Given the description of an element on the screen output the (x, y) to click on. 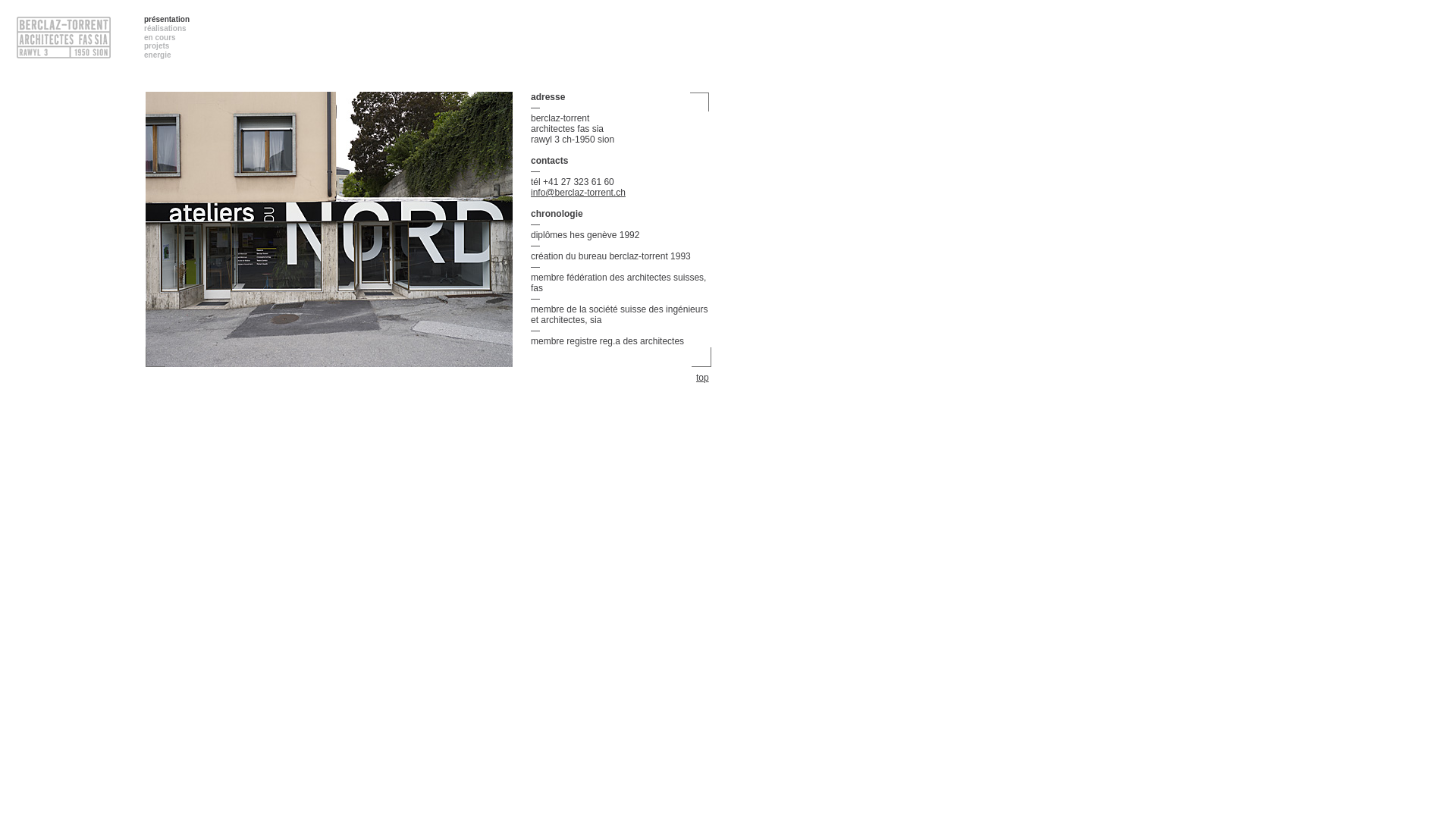
en cours Element type: text (159, 37)
top Element type: text (704, 377)
energie Element type: text (157, 54)
bureau d'architectes fas sia sion Element type: hover (328, 233)
info@berclaz-torrent.ch Element type: text (577, 192)
projets Element type: text (156, 45)
